Given the description of an element on the screen output the (x, y) to click on. 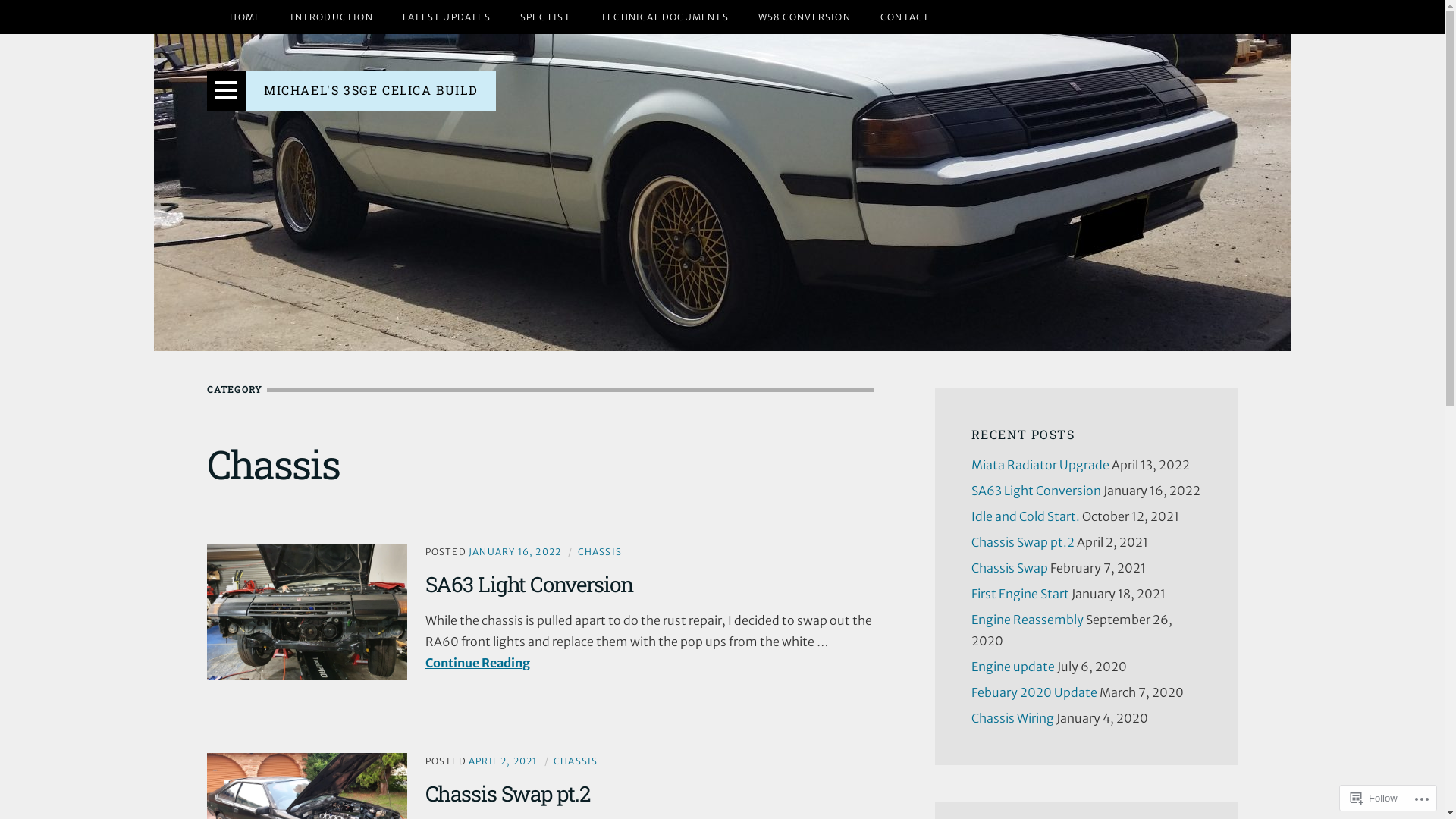
Continue Reading Element type: text (476, 662)
Follow Element type: text (1373, 797)
SA63 Light Conversion Element type: text (1035, 490)
INTRODUCTION Element type: text (330, 17)
W58 CONVERSION Element type: text (804, 17)
Idle and Cold Start. Element type: text (1024, 516)
MICHAEL'S 3SGE CELICA BUILD Element type: text (370, 89)
HOME Element type: text (245, 17)
Chassis Swap pt.2 Element type: text (1021, 541)
CHASSIS Element type: text (575, 760)
CHASSIS Element type: text (599, 551)
Michael's 3SGE Celica Build Element type: hover (722, 192)
Chassis Swap pt.2 Element type: text (506, 793)
APRIL 2, 2021 Element type: text (502, 760)
Chassis Swap Element type: text (1008, 567)
First Engine Start Element type: text (1019, 593)
Chassis Wiring Element type: text (1011, 717)
Miata Radiator Upgrade Element type: text (1039, 464)
SPEC LIST Element type: text (545, 17)
LATEST UPDATES Element type: text (446, 17)
TECHNICAL DOCUMENTS Element type: text (664, 17)
Engine Reassembly Element type: text (1026, 619)
CONTACT Element type: text (904, 17)
Febuary 2020 Update Element type: text (1033, 691)
JANUARY 16, 2022 Element type: text (514, 551)
SA63 Light Conversion Element type: text (528, 584)
Engine update Element type: text (1012, 666)
